Given the description of an element on the screen output the (x, y) to click on. 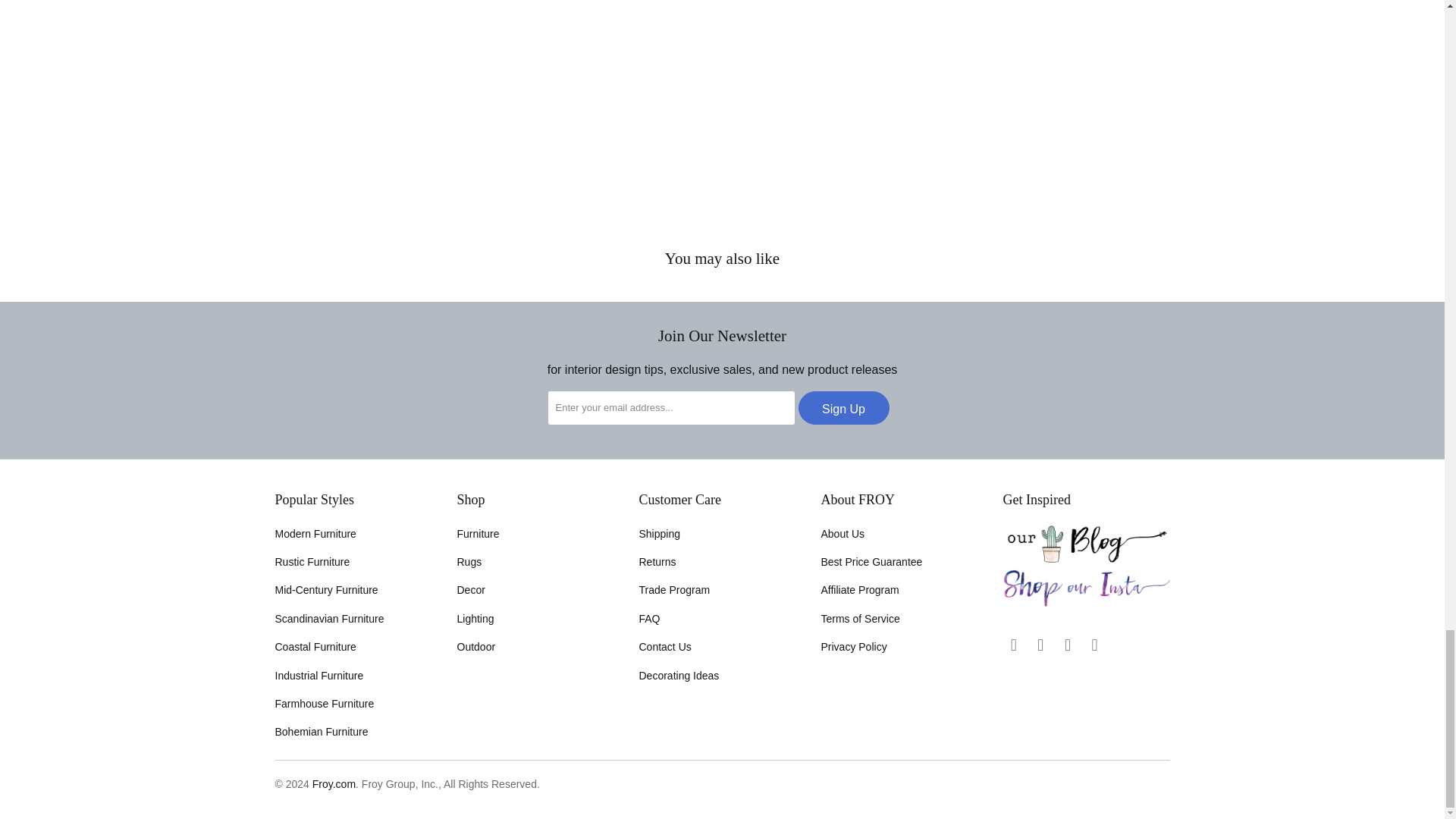
FROY Instagram Shop (1086, 603)
FROY Blog (1086, 558)
Froy.com on Facebook (1014, 645)
Sign Up (842, 408)
Froy.com on Instagram (1040, 645)
